Given the description of an element on the screen output the (x, y) to click on. 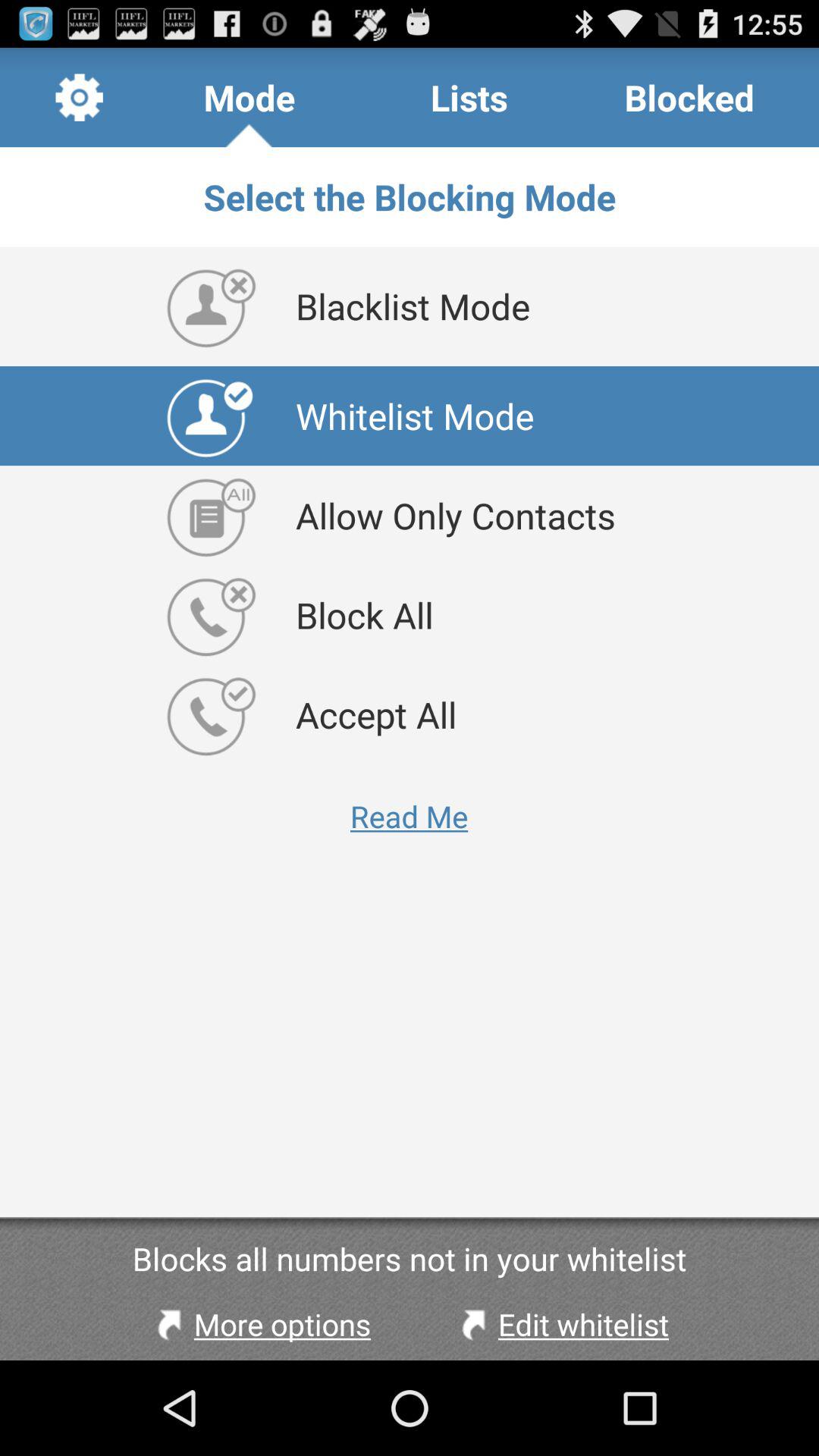
jump until read me item (408, 816)
